Given the description of an element on the screen output the (x, y) to click on. 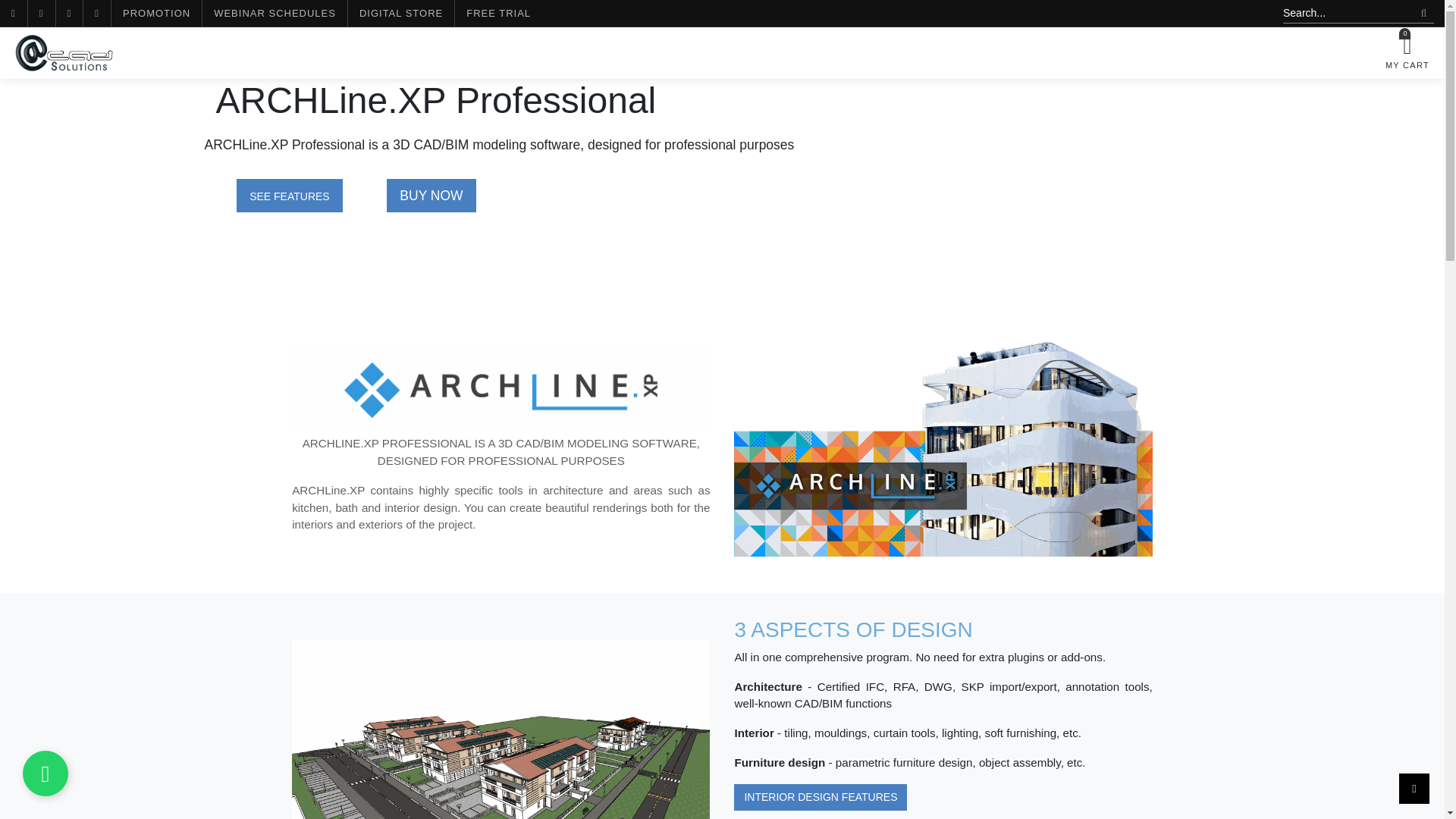
ACAD Solutions Sdn Bhd (63, 53)
